Given the description of an element on the screen output the (x, y) to click on. 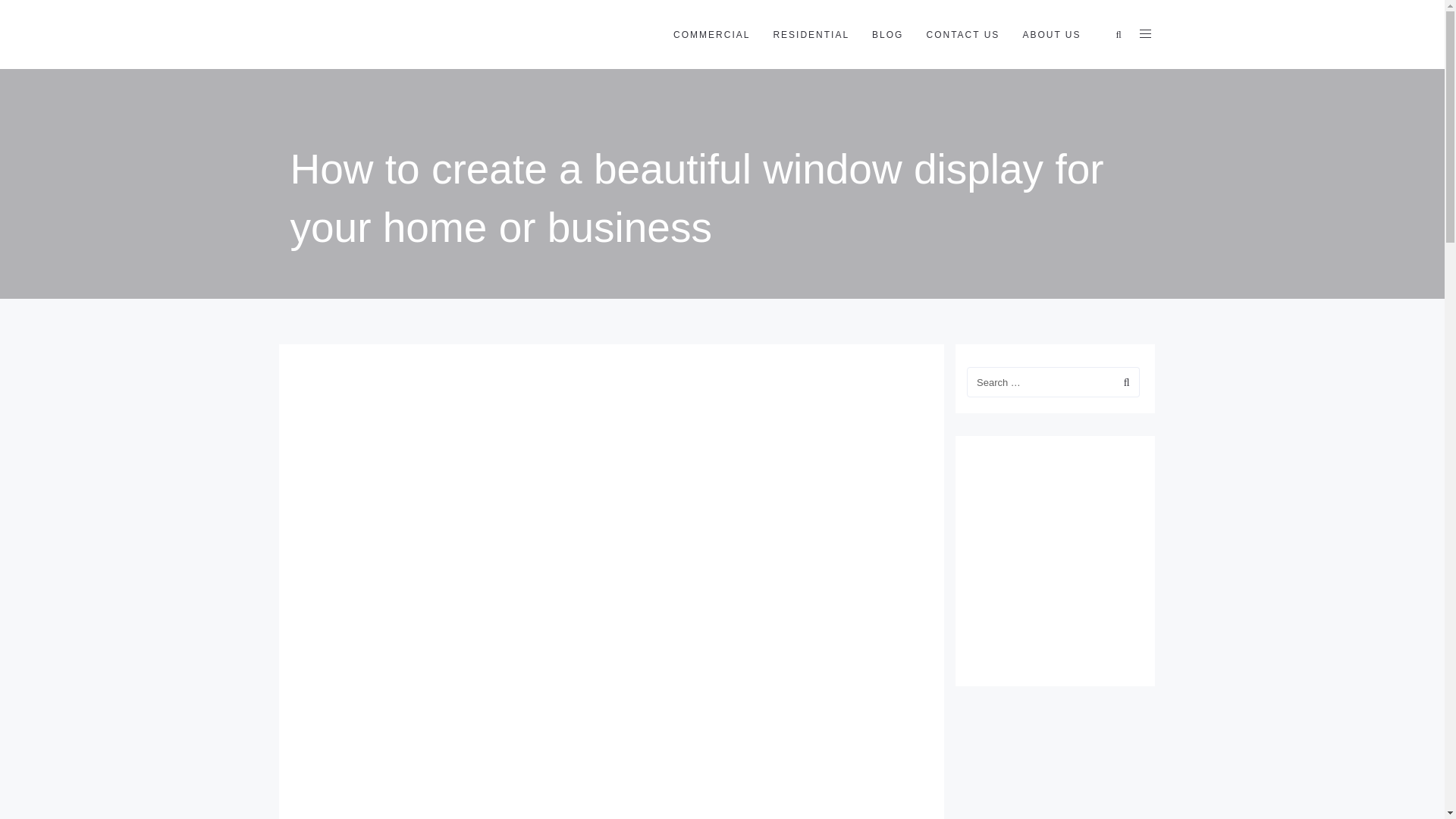
CONTACT US (962, 34)
ABOUT US (1051, 34)
COMMERCIAL (711, 34)
RESIDENTIAL (810, 34)
